Given the description of an element on the screen output the (x, y) to click on. 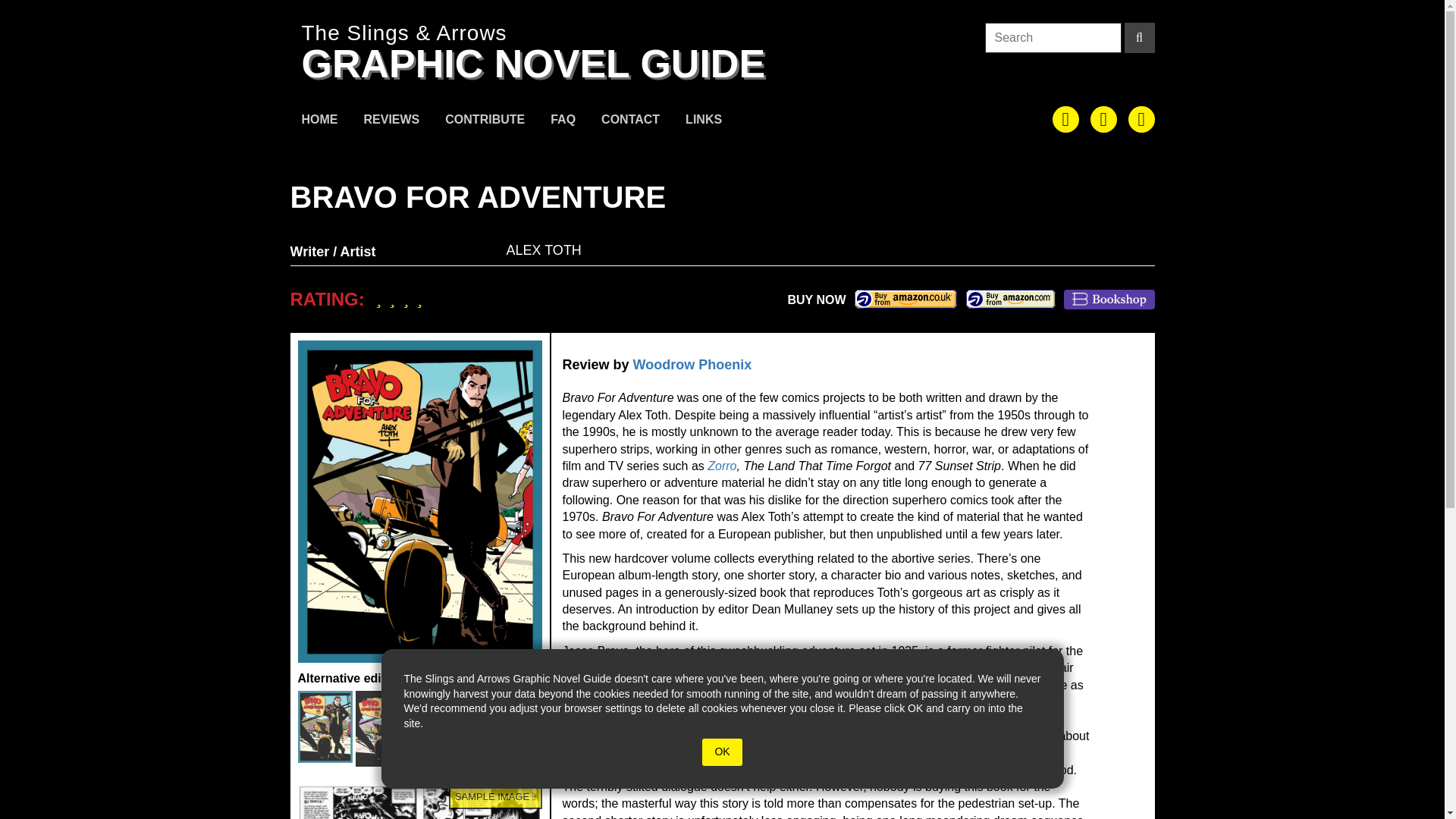
CONTRIBUTE (484, 121)
Zorro (721, 465)
Posts by Woodrow Phoenix (692, 364)
FAQ (562, 121)
HOME (319, 121)
OK (721, 751)
LINKS (703, 121)
Woodrow Phoenix (692, 364)
SAMPLE IMAGE  (419, 801)
CONTACT (630, 121)
ALEX TOTH (543, 249)
REVIEWS (391, 121)
